Given the description of an element on the screen output the (x, y) to click on. 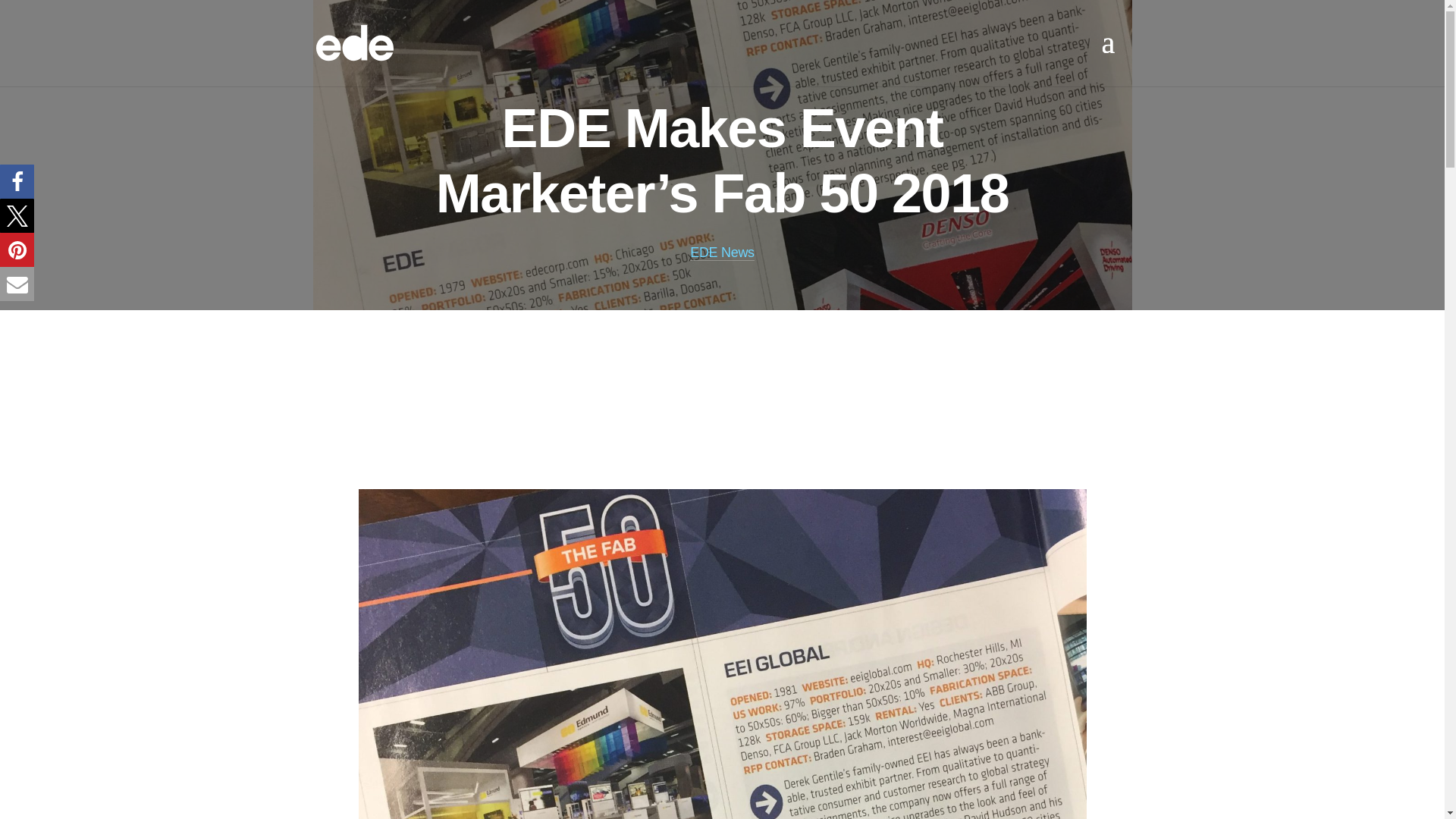
Send by email (16, 283)
Pin it on Pinterest (16, 249)
Share on Facebook (16, 181)
Share on X (16, 215)
EDE News (722, 252)
